Given the description of an element on the screen output the (x, y) to click on. 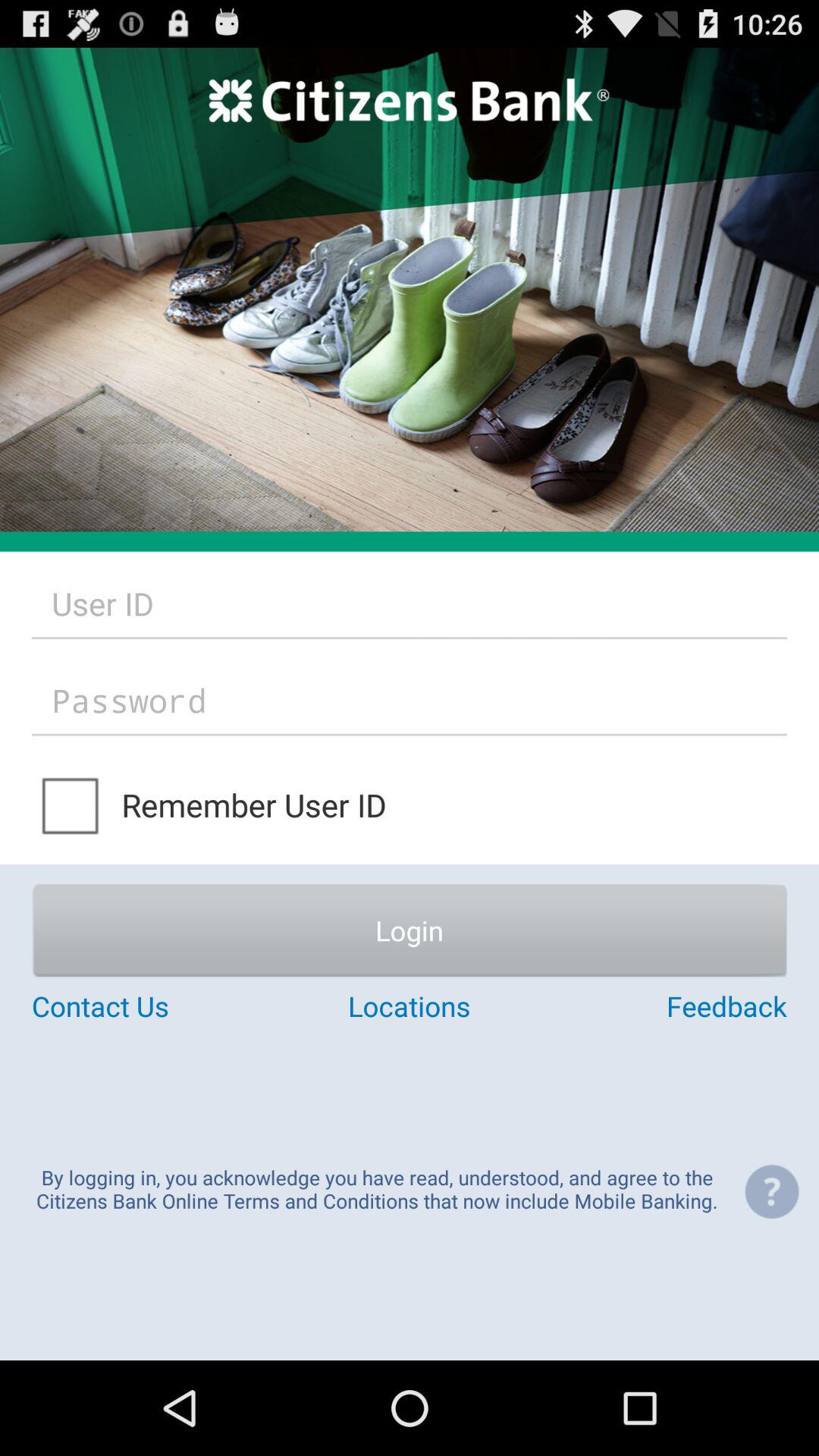
launch the contact us item (157, 1005)
